Given the description of an element on the screen output the (x, y) to click on. 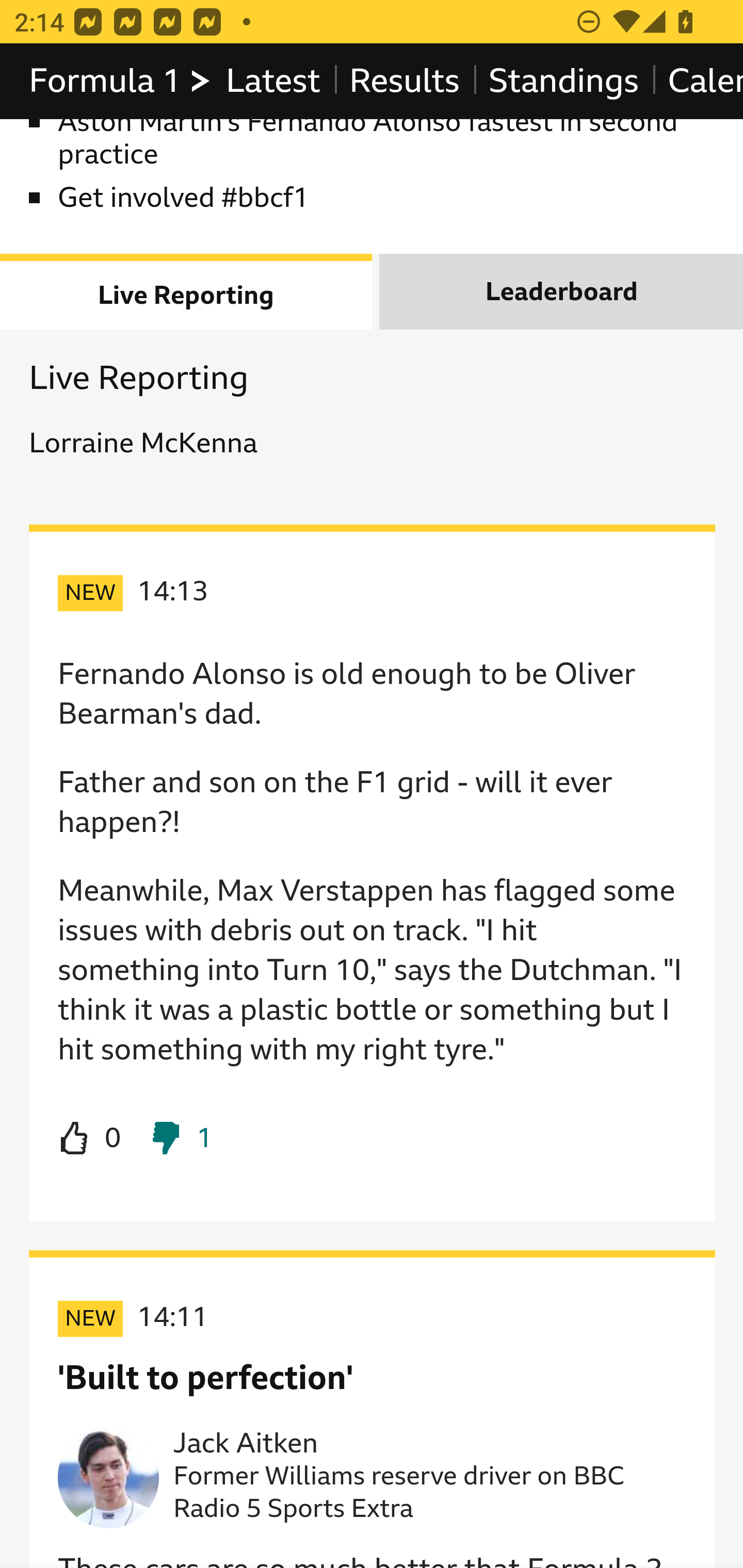
Live Reporting (186, 292)
Leaderboard (560, 292)
Like (89, 1138)
Disliked (180, 1138)
